Given the description of an element on the screen output the (x, y) to click on. 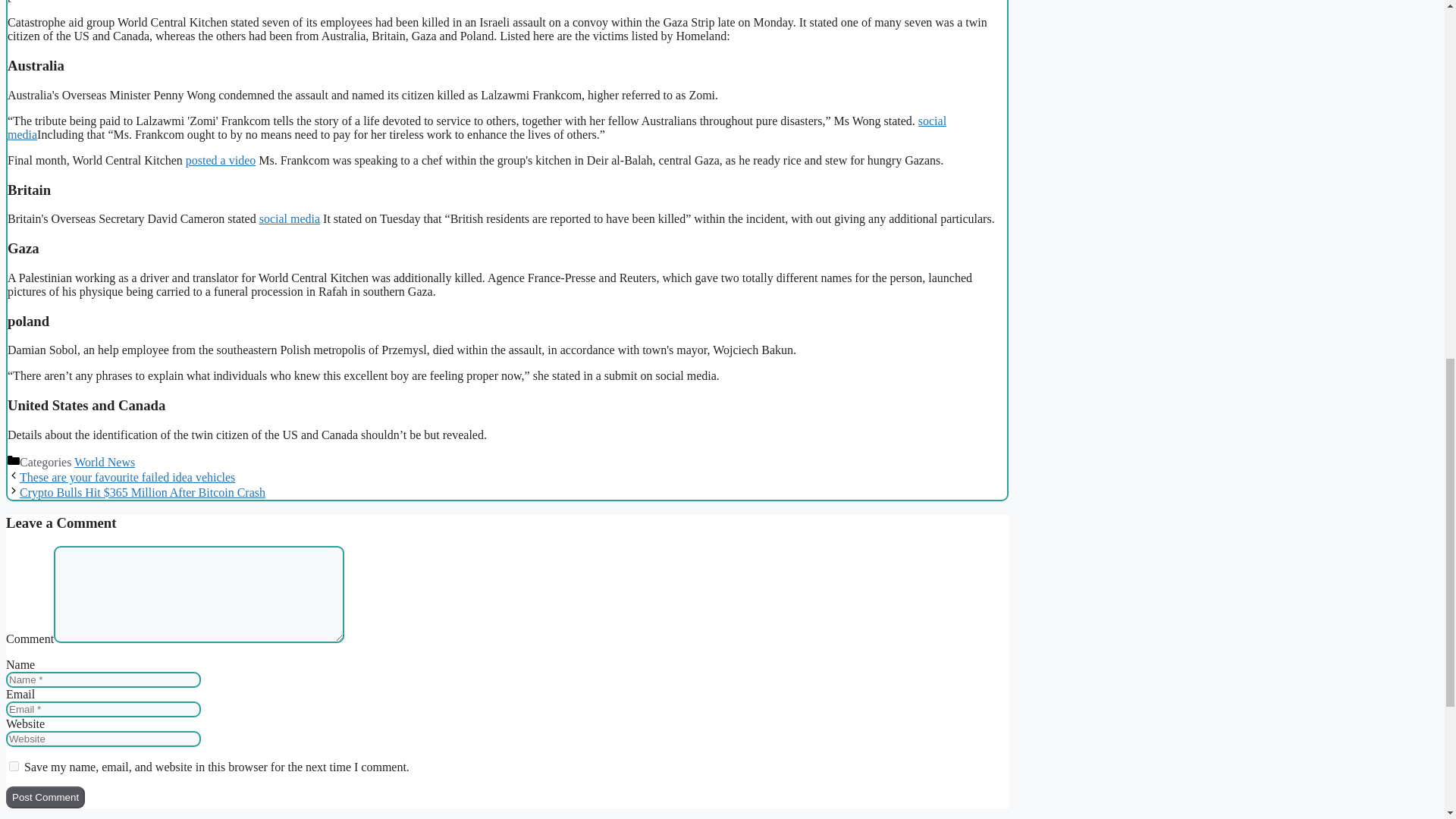
Post Comment (44, 797)
social media (476, 127)
World News (104, 461)
social media (289, 218)
These are your favourite failed idea vehicles (127, 477)
posted a video (221, 160)
yes (13, 766)
Post Comment (44, 797)
